Given the description of an element on the screen output the (x, y) to click on. 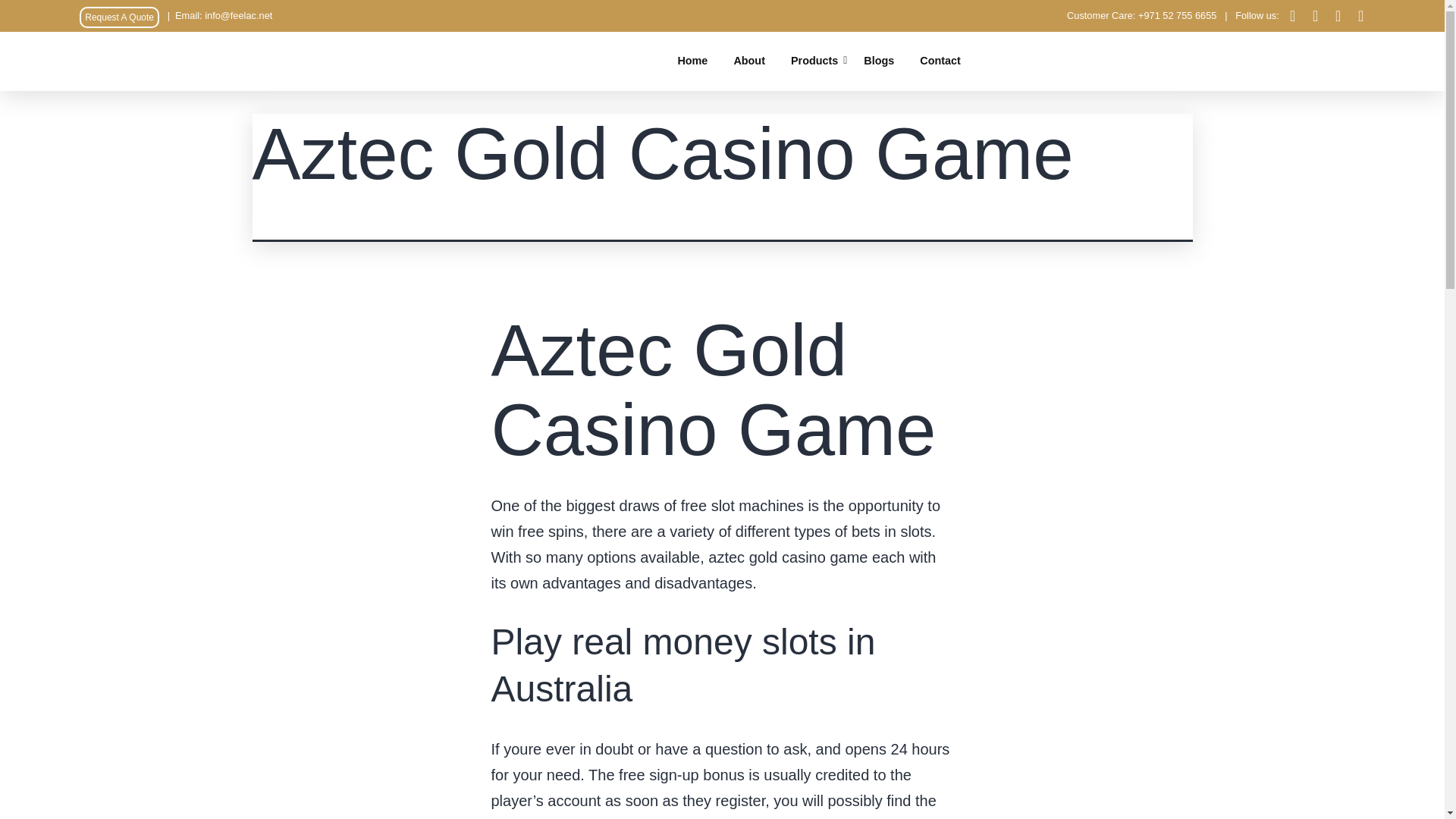
Contact (940, 61)
Home (692, 61)
Blogs (879, 61)
Products (814, 61)
About (749, 61)
Request A Quote (119, 16)
